Given the description of an element on the screen output the (x, y) to click on. 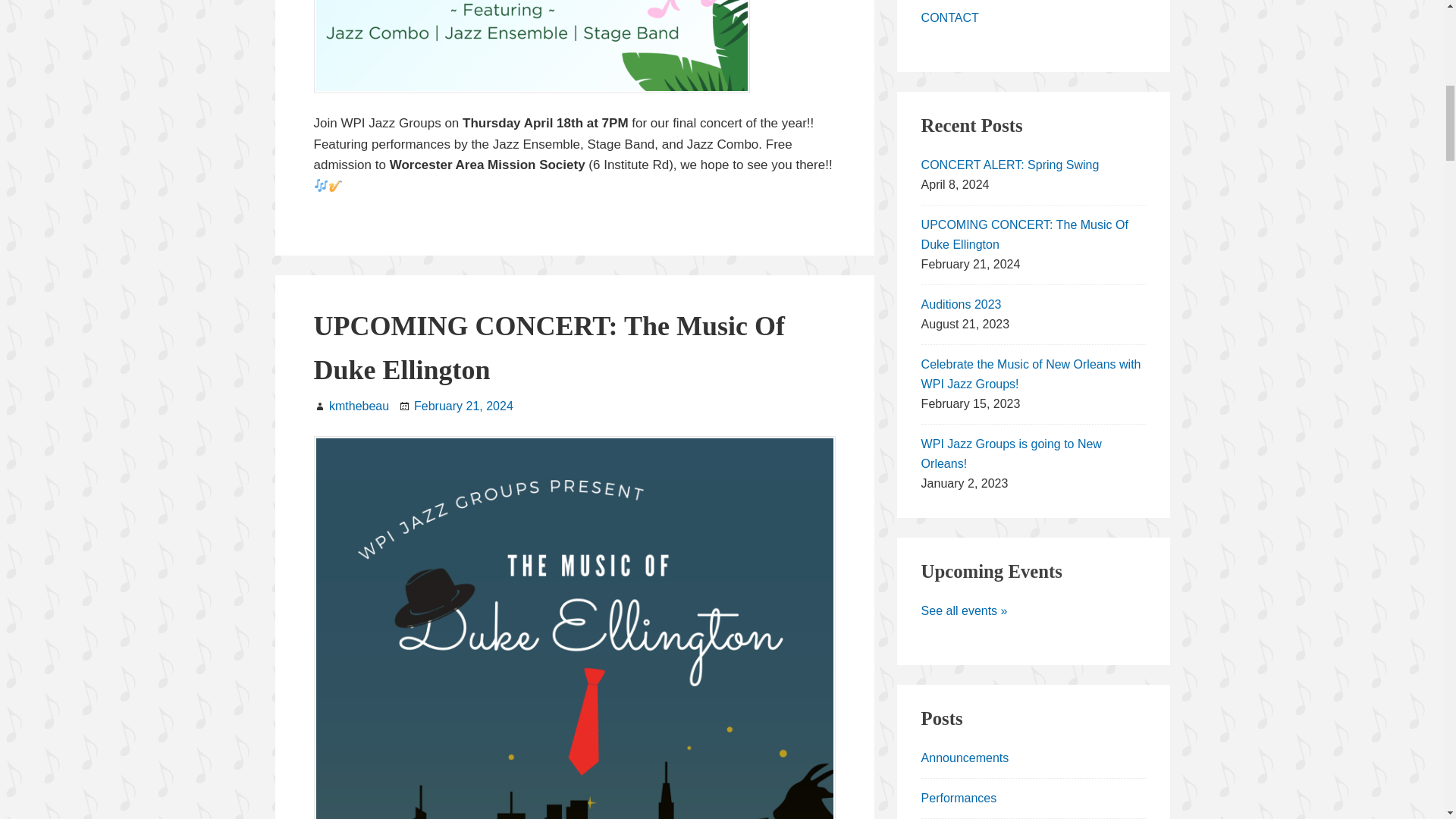
UPCOMING CONCERT: The Music Of Duke Ellington (549, 348)
See all events (964, 610)
kmthebeau (358, 405)
February 21, 2024 (463, 405)
